Given the description of an element on the screen output the (x, y) to click on. 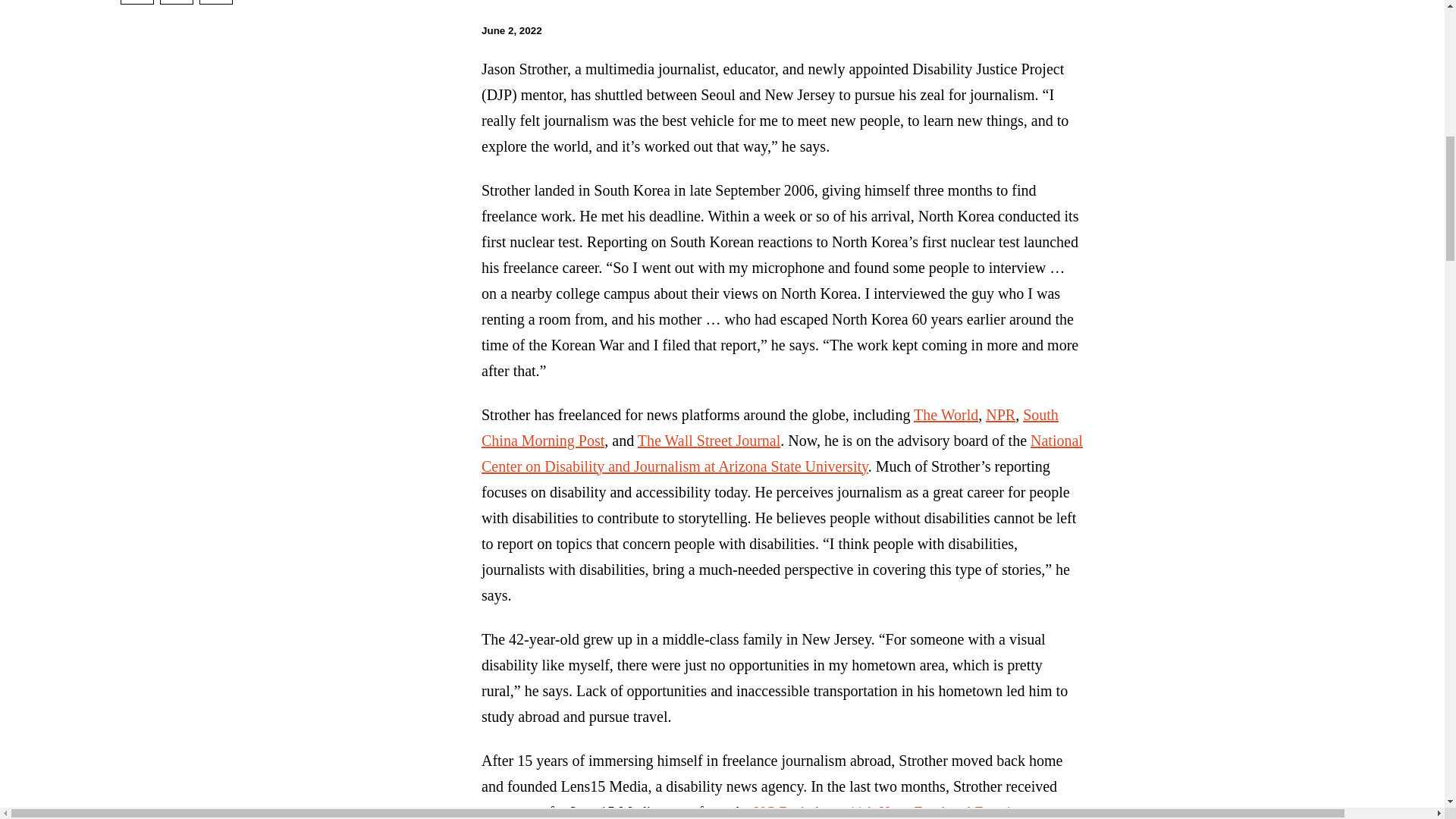
The Wall Street Journal (708, 440)
Share Globetrotting in Pursuit of Journalism on Twitter (176, 2)
South China Morning Post (769, 427)
Share Globetrotting in Pursuit of Journalism via WhatsApp (215, 2)
The World (946, 414)
NPR (999, 414)
Share Globetrotting in Pursuit of Journalism on Facebook (137, 2)
